Given the description of an element on the screen output the (x, y) to click on. 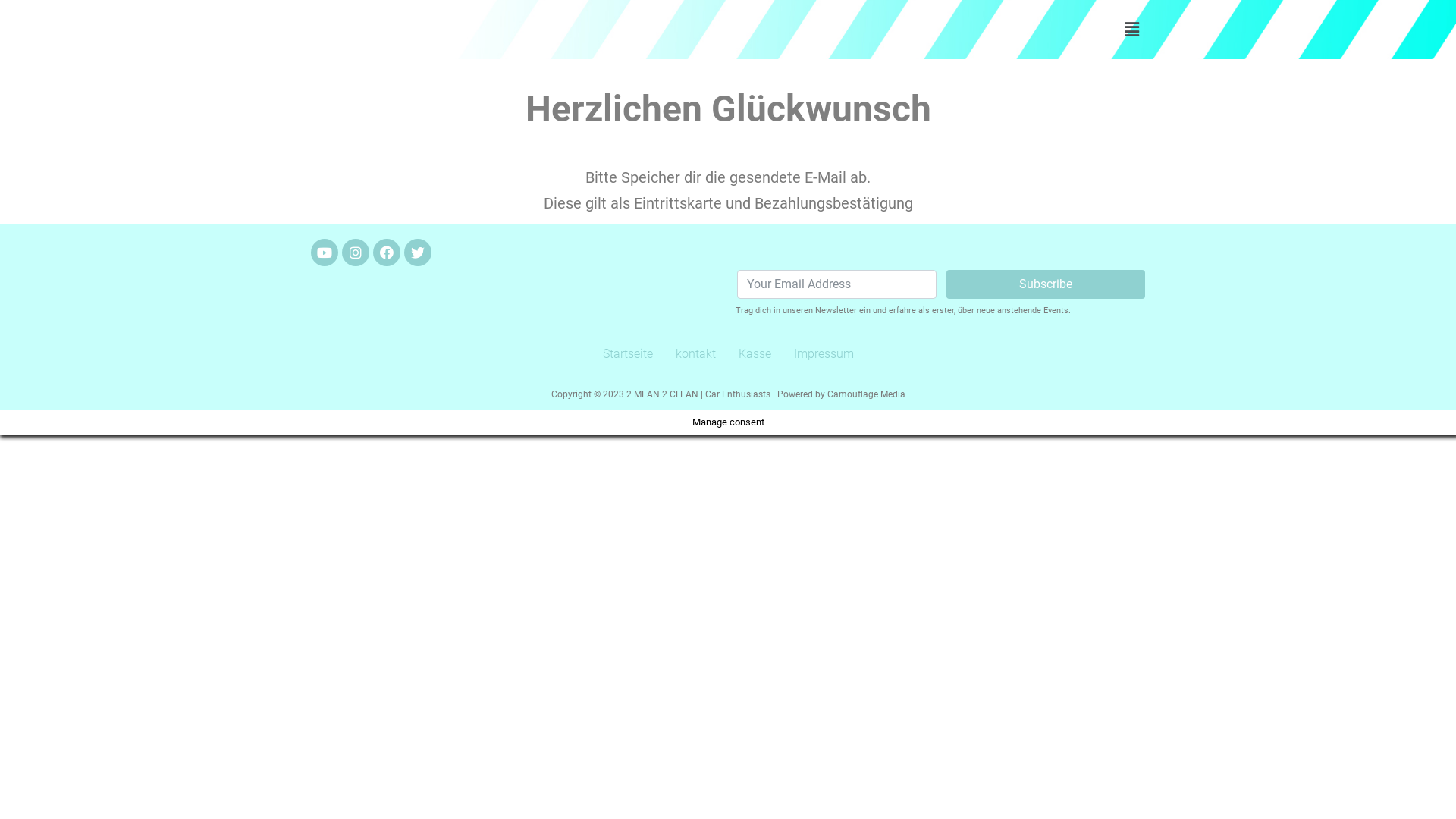
kontakt Element type: text (695, 353)
Subscribe Element type: text (1045, 283)
Impressum Element type: text (823, 353)
Kasse Element type: text (753, 353)
Startseite Element type: text (627, 353)
Camouflage Media Element type: text (865, 394)
